Given the description of an element on the screen output the (x, y) to click on. 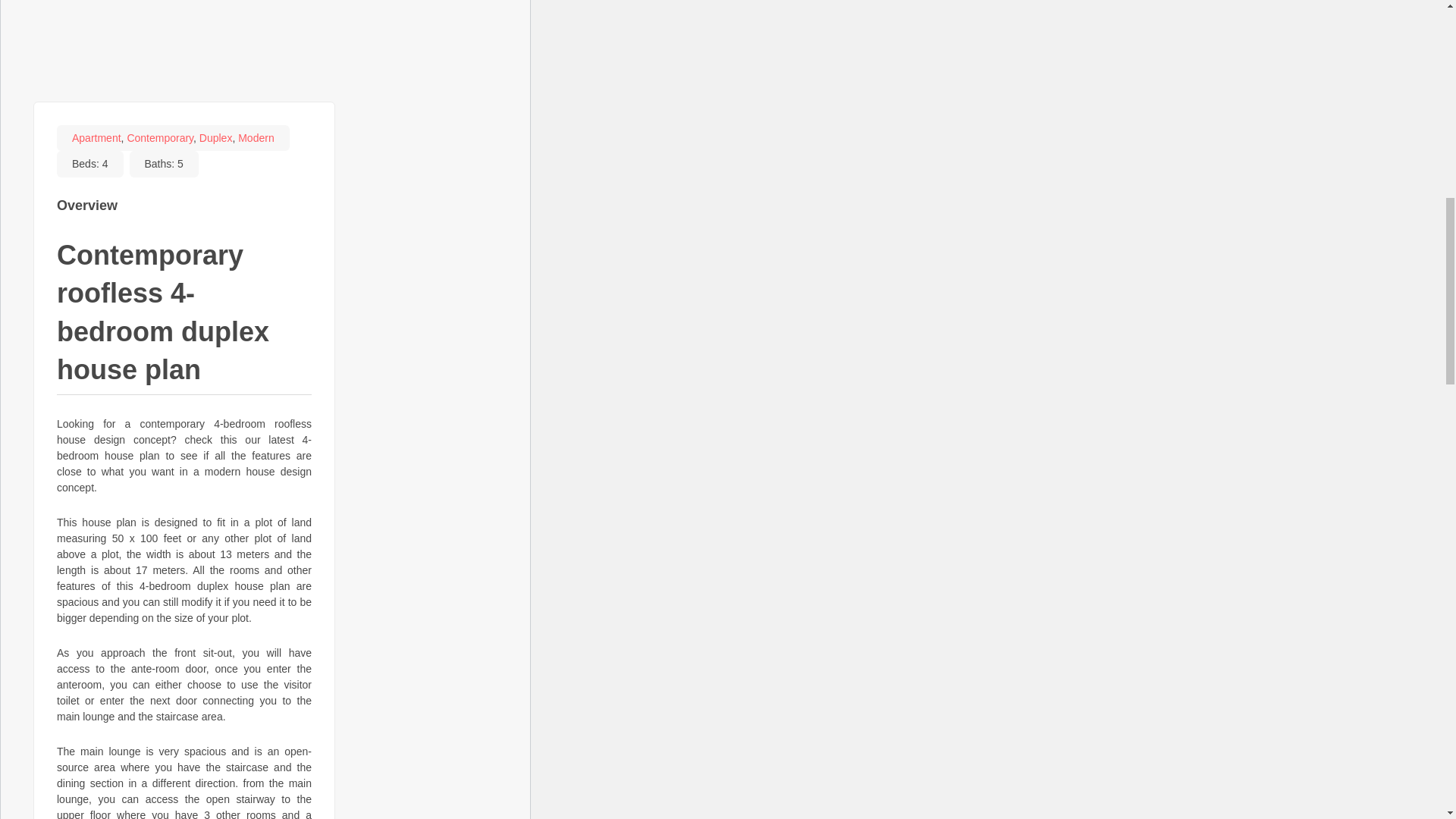
Advertisement (265, 47)
